Given the description of an element on the screen output the (x, y) to click on. 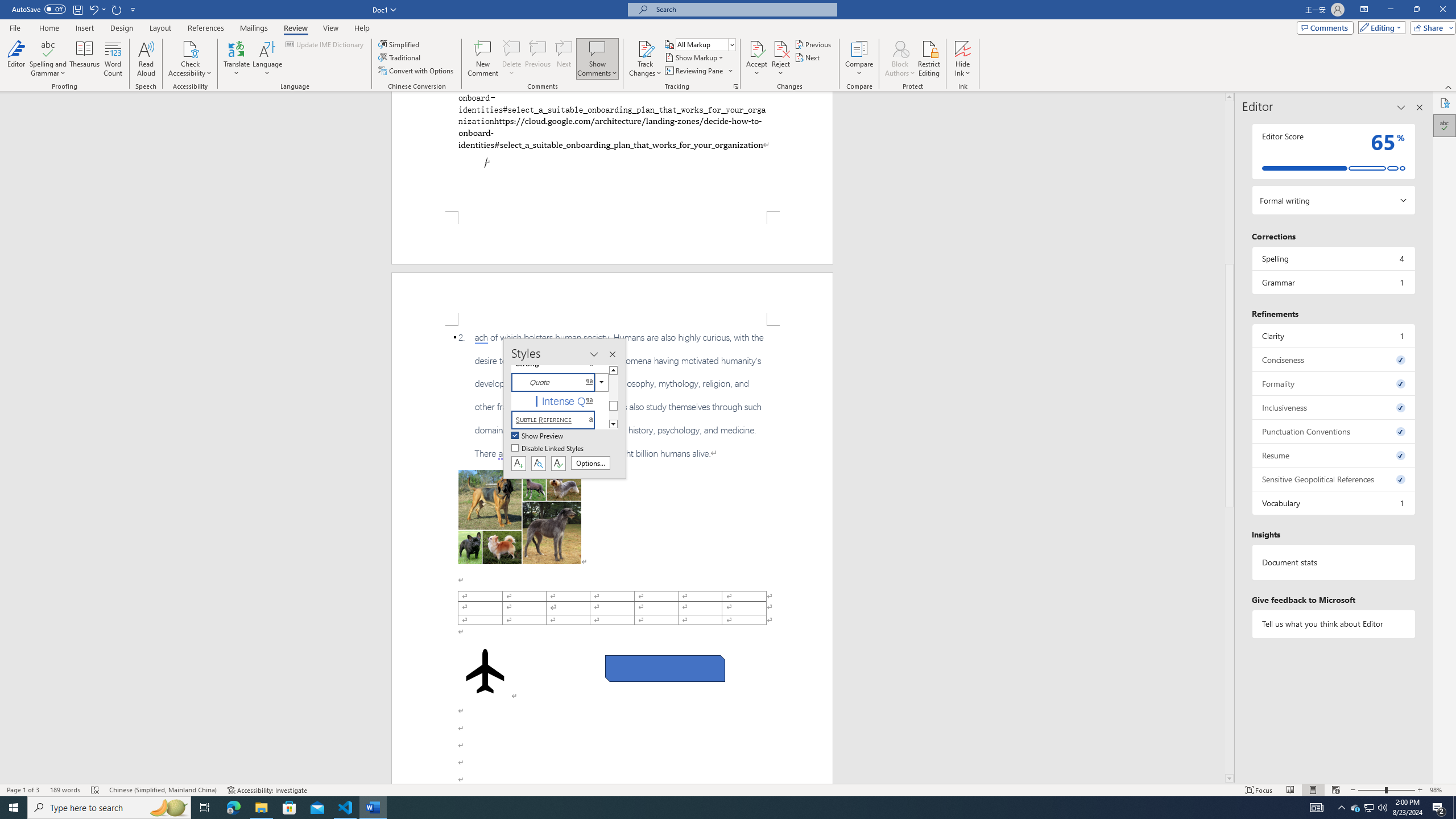
Resume, 0 issues. Press space or enter to review items. (1333, 454)
Word Count (113, 58)
Track Changes (644, 58)
Delete (511, 48)
Footer -Section 1- (611, 237)
Document statistics (1333, 561)
Morphological variation in six dogs (519, 517)
